Given the description of an element on the screen output the (x, y) to click on. 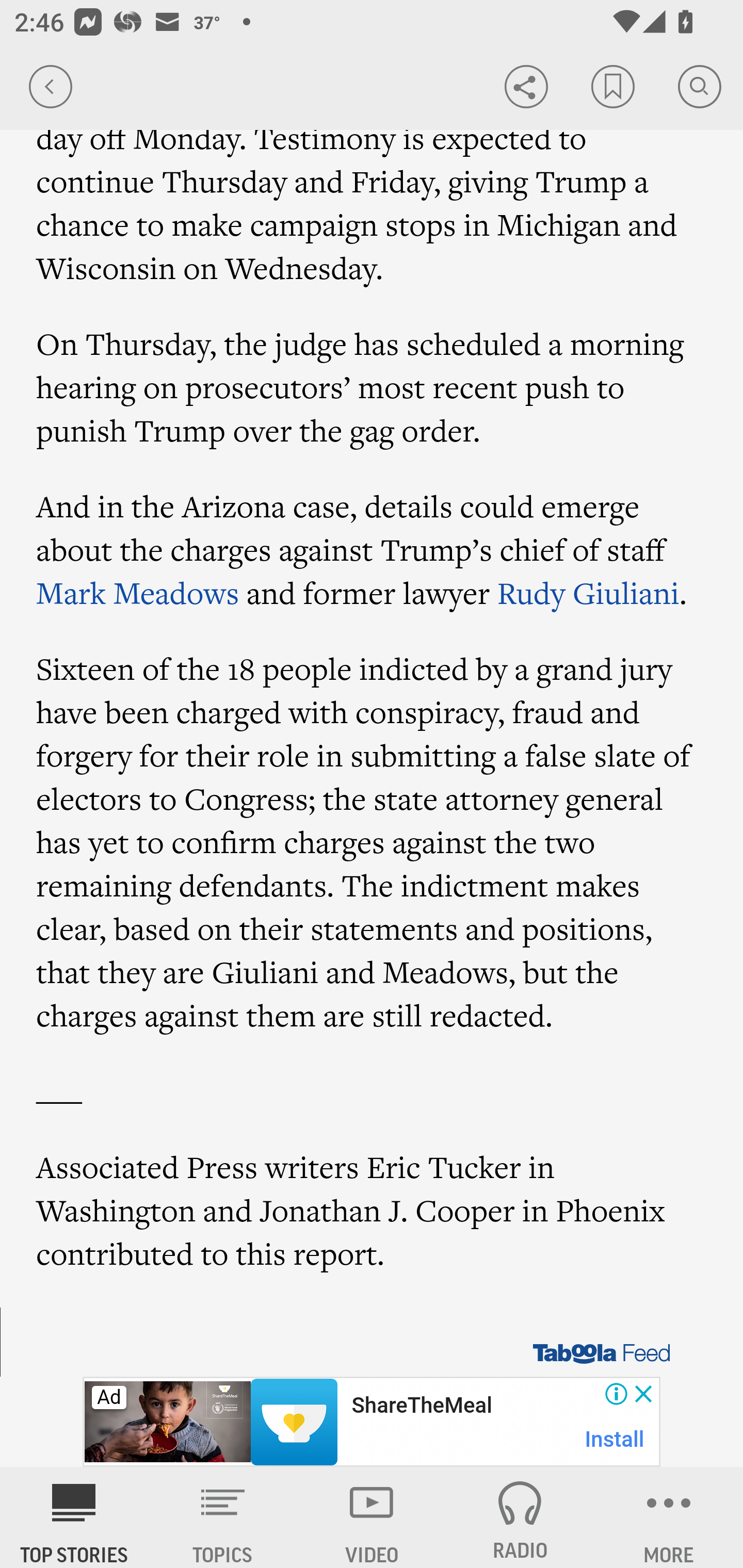
Mark Meadows (137, 591)
Rudy Giuliani (588, 591)
ShareTheMeal (420, 1405)
Install (614, 1438)
AP News TOP STORIES (74, 1517)
TOPICS (222, 1517)
VIDEO (371, 1517)
RADIO (519, 1517)
MORE (668, 1517)
